Given the description of an element on the screen output the (x, y) to click on. 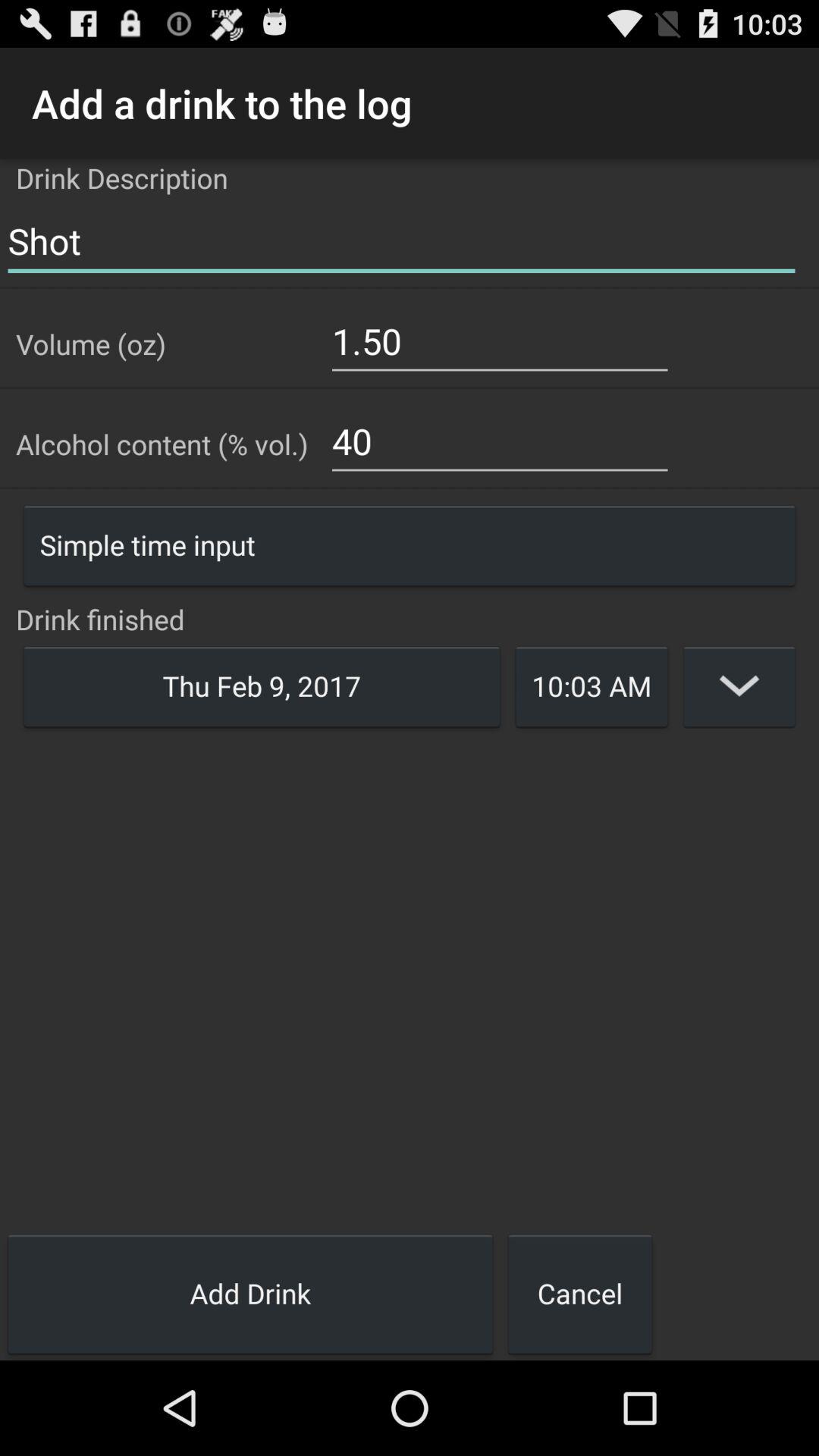
edit entry (739, 685)
